Given the description of an element on the screen output the (x, y) to click on. 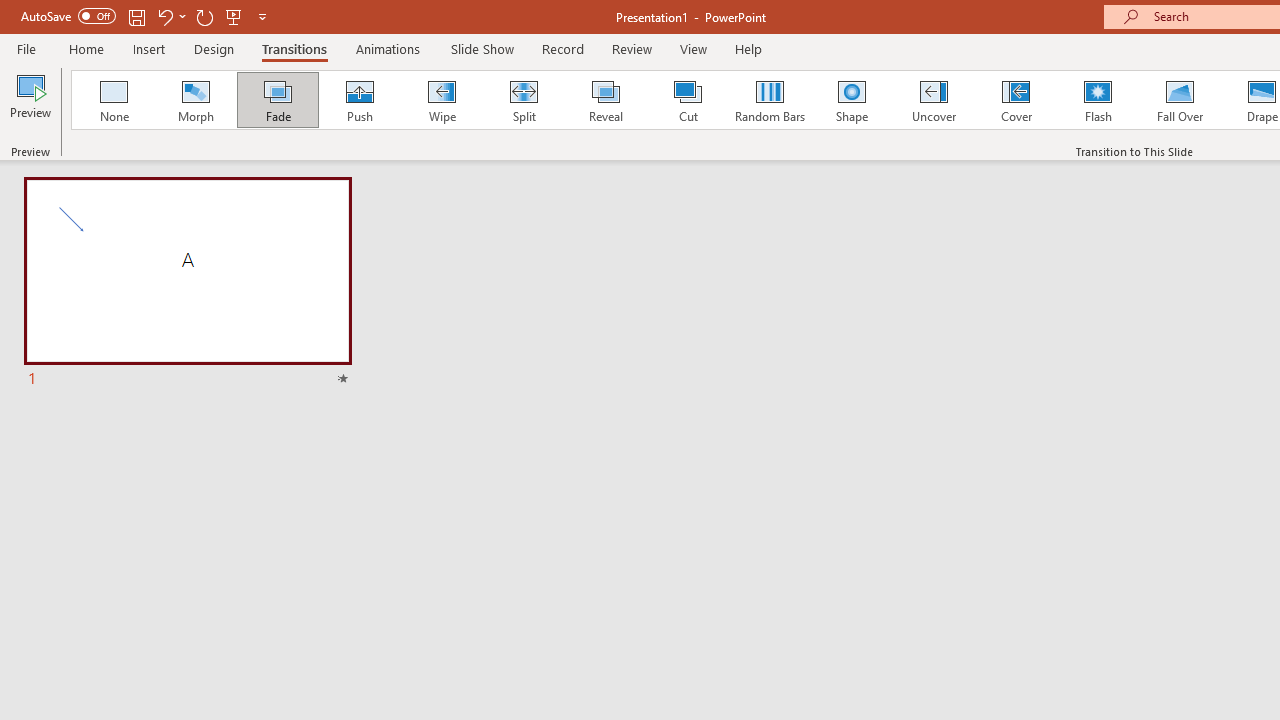
Slide A (187, 284)
Uncover (934, 100)
Shape (852, 100)
